Given the description of an element on the screen output the (x, y) to click on. 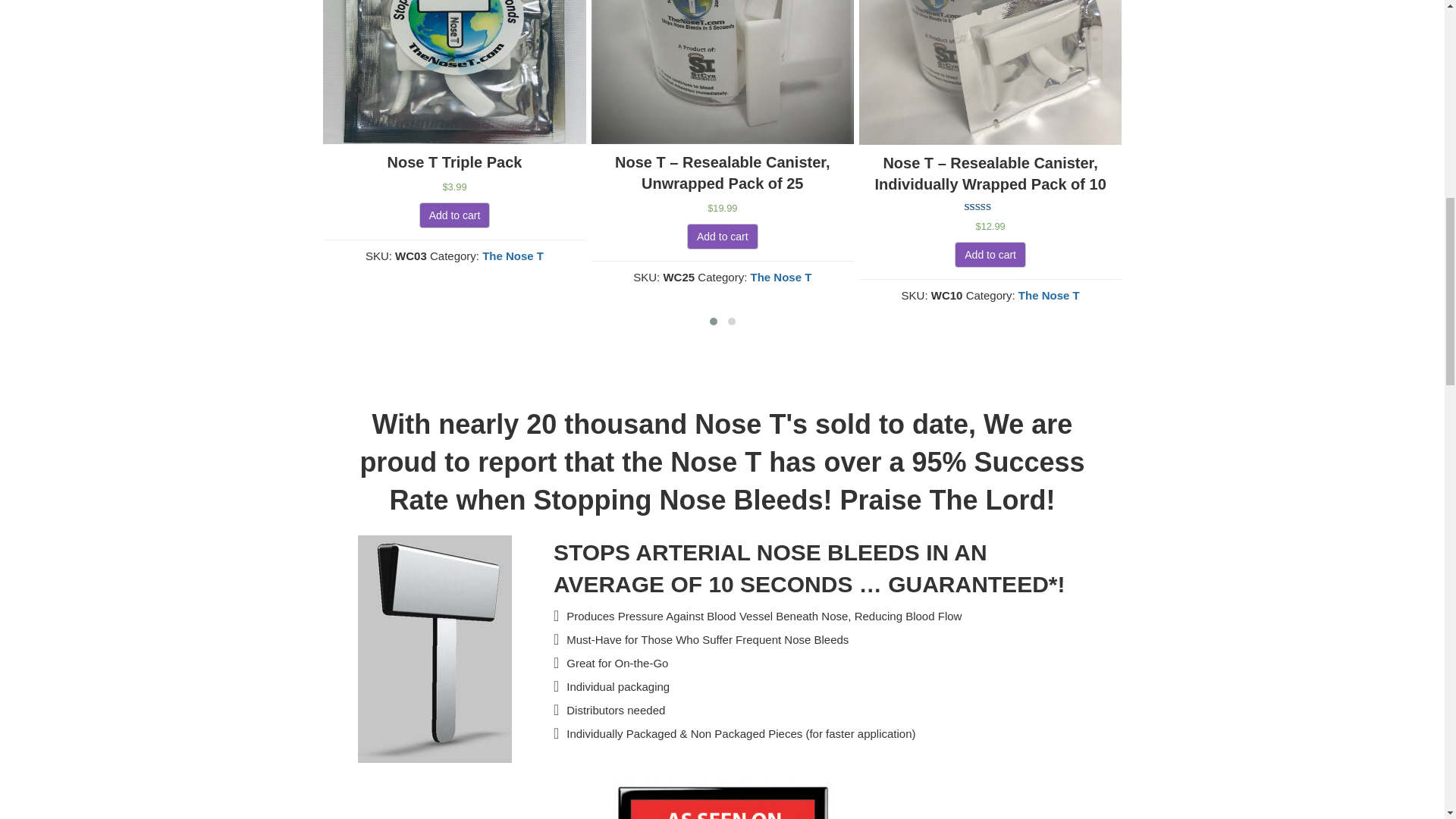
Add to cart (722, 236)
Add to cart (454, 215)
Nose T Triple Pack (454, 72)
Add to cart (990, 254)
Nose T Triple Pack (454, 161)
Nose T Triple Pack (454, 161)
The Nose T (512, 256)
The Nose T (781, 277)
The Nose T (1048, 295)
